Given the description of an element on the screen output the (x, y) to click on. 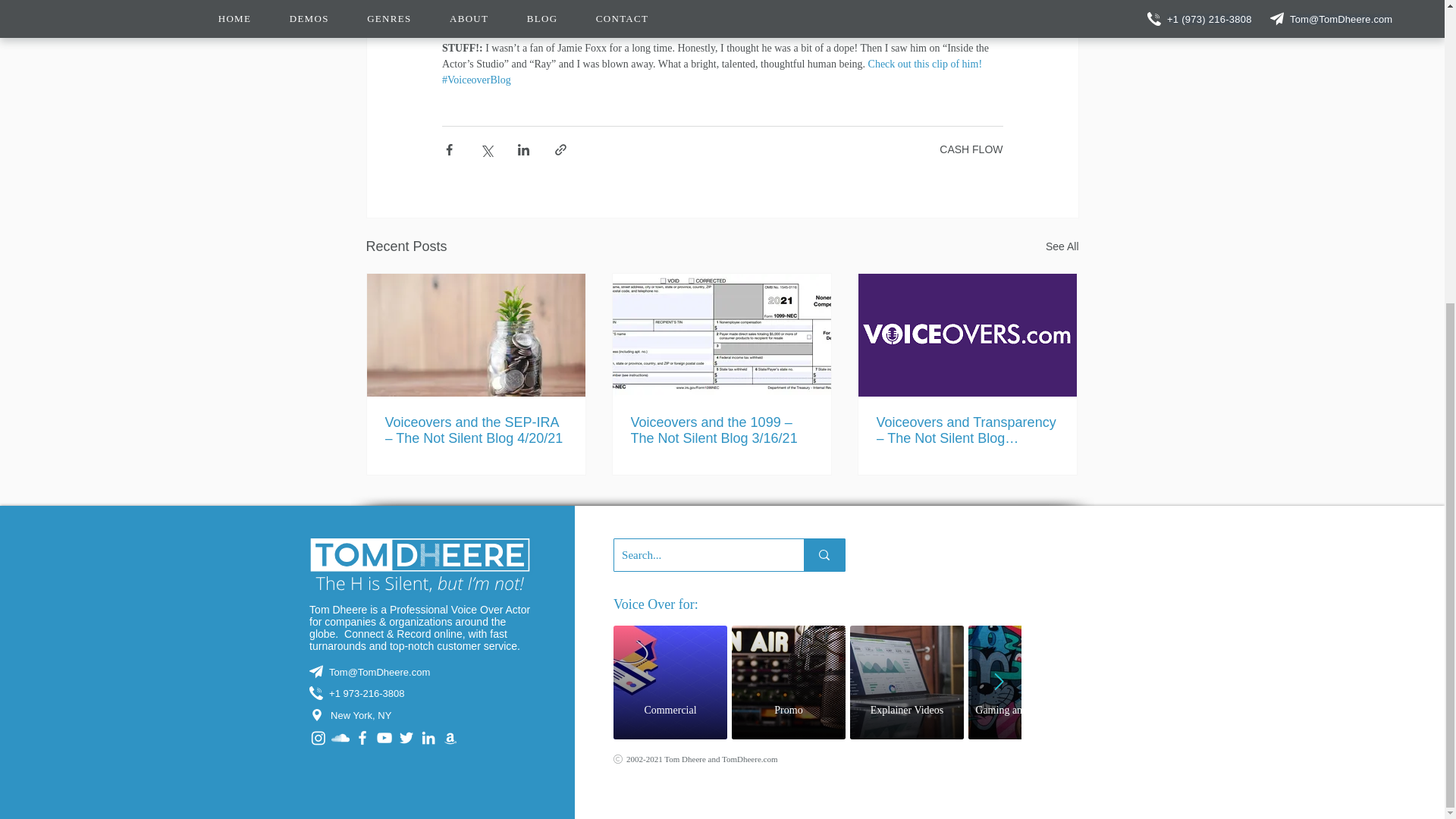
See All (1061, 246)
Check out this clip of him! (924, 63)
CASH FLOW (817, 681)
